Given the description of an element on the screen output the (x, y) to click on. 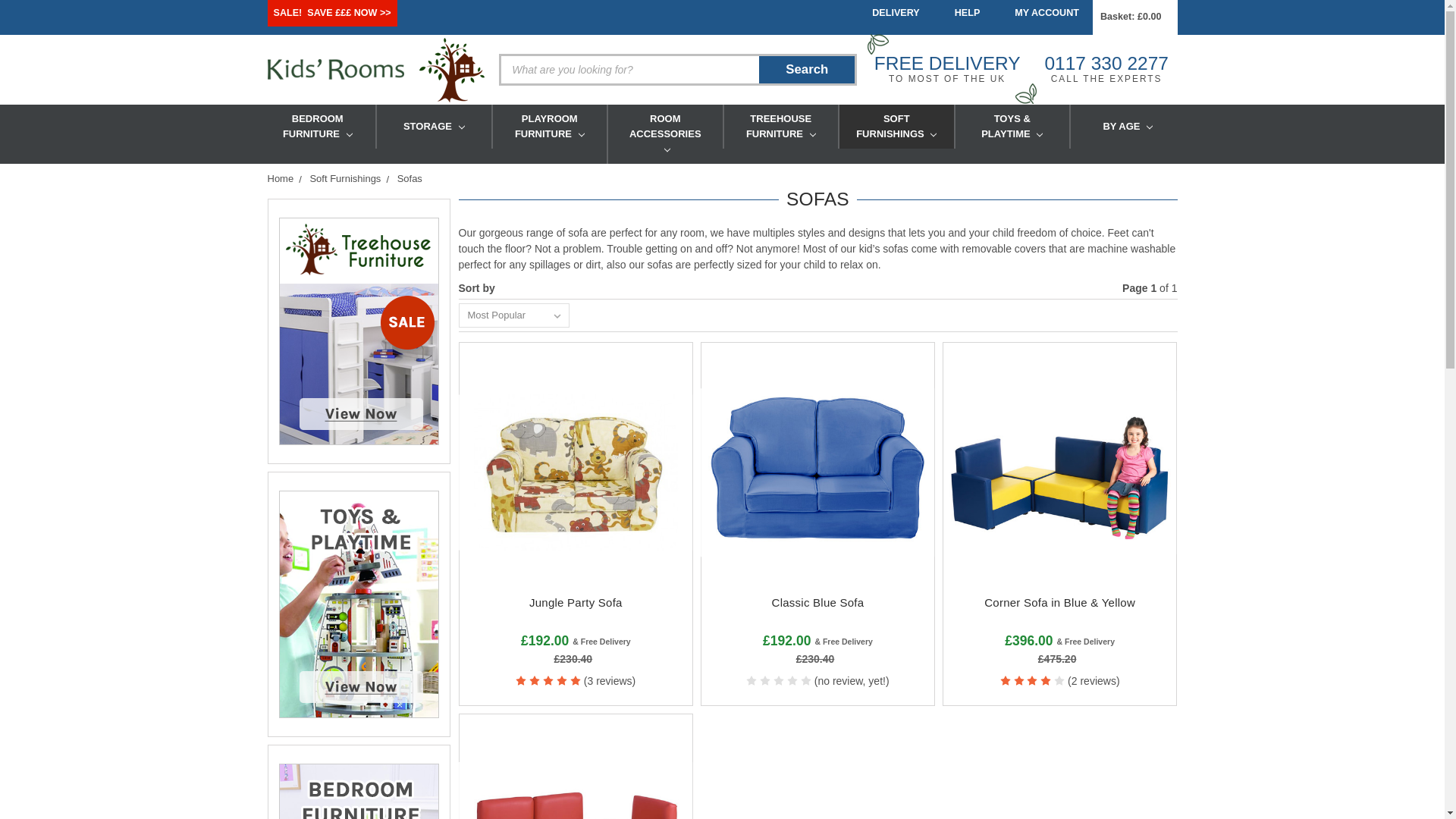
Classic Blue Sofa (817, 472)
BEDROOM FURNITURE (317, 126)
Search (806, 69)
PLAYROOM FURNITURE (550, 126)
Kids Rooms (334, 69)
Jungle Party Sofa (575, 472)
MY ACCOUNT (1042, 13)
STORAGE (434, 126)
DELIVERY (891, 13)
HELP (963, 13)
